Given the description of an element on the screen output the (x, y) to click on. 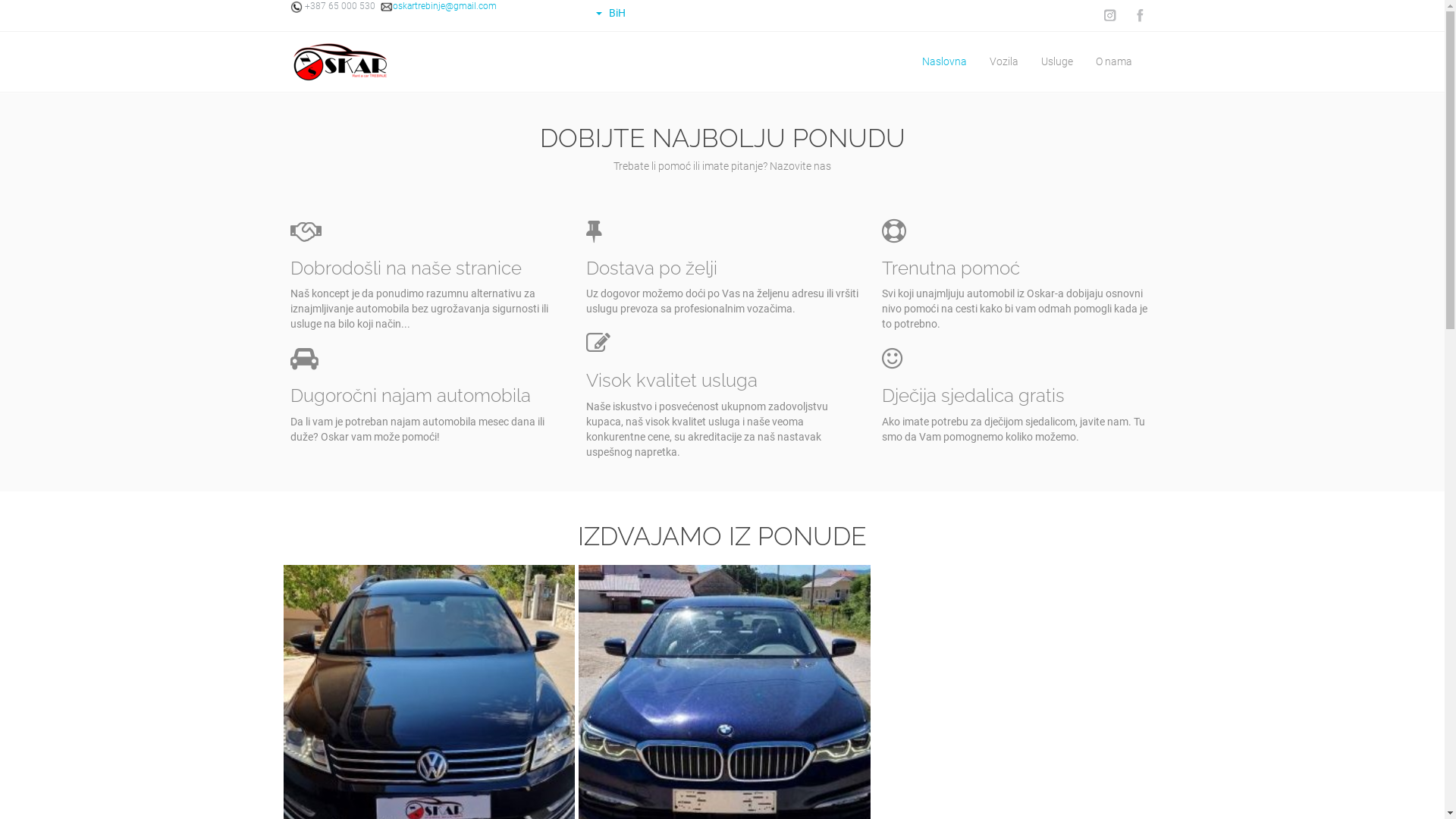
Usluge Element type: text (1056, 61)
Oskar Element type: hover (339, 61)
Facebook Element type: text (1138, 15)
oskartrebinje@gmail.com Element type: text (437, 5)
Naslovna Element type: text (943, 61)
O nama Element type: text (1113, 61)
Vozila Element type: text (1003, 61)
Instagram Element type: text (1108, 15)
  BiH Element type: text (609, 12)
